Given the description of an element on the screen output the (x, y) to click on. 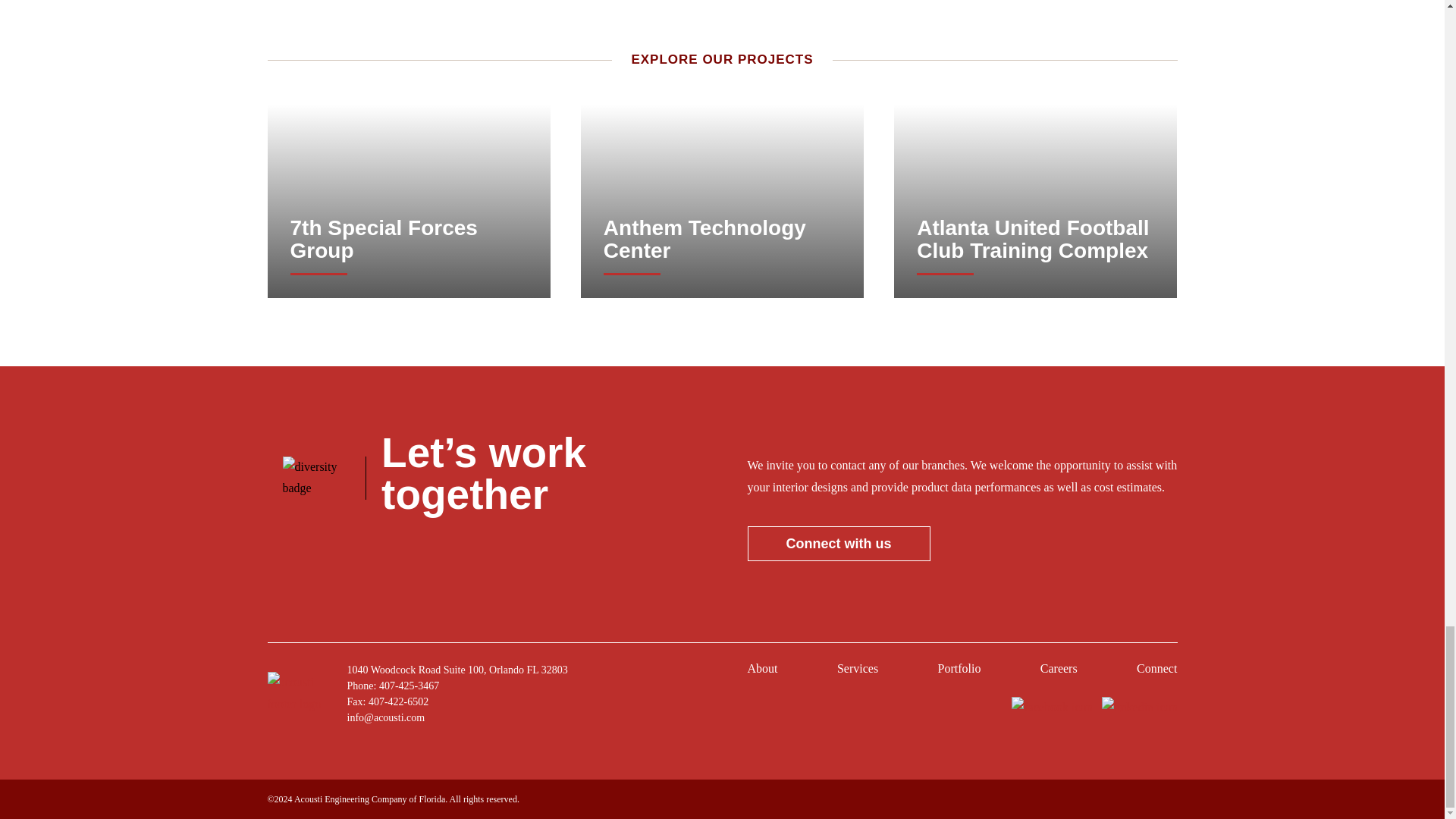
407-425-3467 (408, 685)
Connect with us (839, 543)
Portfolio (959, 672)
About (762, 672)
7th Special Forces Group (408, 240)
Services (857, 672)
Atlanta United Football Club Training Complex (1035, 240)
Anthem Technology Center (722, 240)
